Given the description of an element on the screen output the (x, y) to click on. 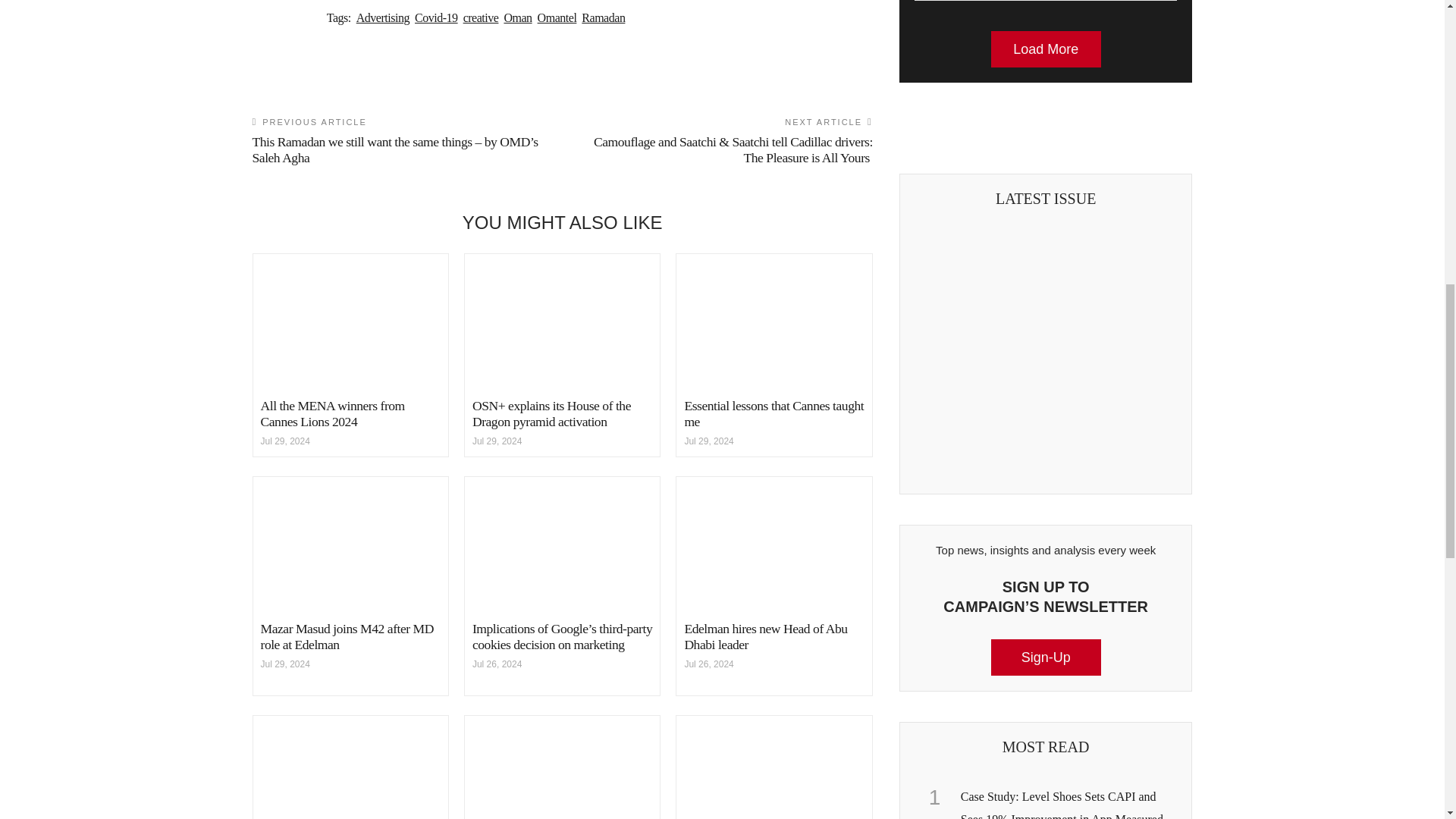
Ramadan (602, 17)
creative (481, 17)
Covid-19 (436, 17)
Oman (517, 17)
Advertising (382, 17)
Omantel (556, 17)
